Given the description of an element on the screen output the (x, y) to click on. 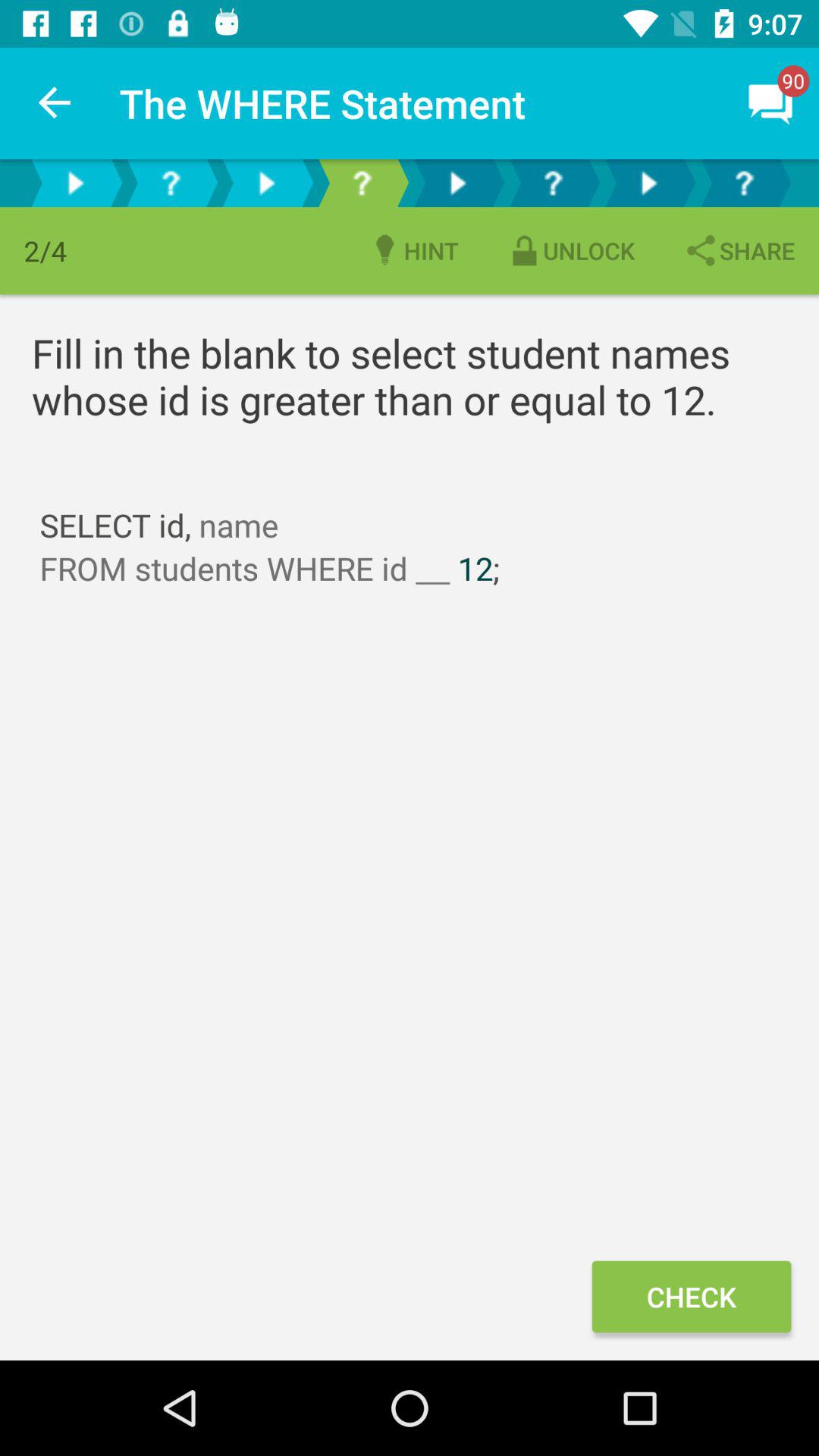
button go back go to previous (265, 183)
